Given the description of an element on the screen output the (x, y) to click on. 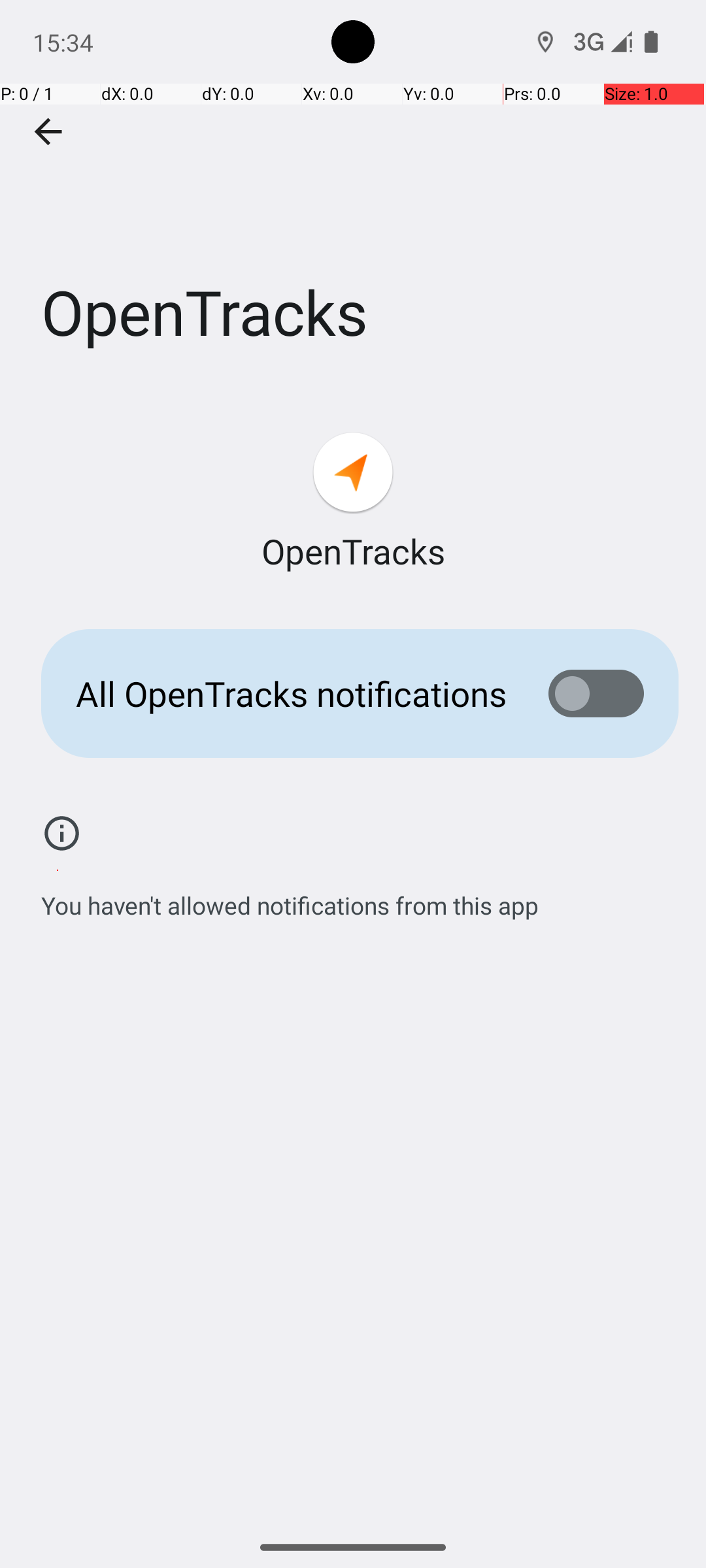
All OpenTracks notifications Element type: android.widget.TextView (291, 693)
You haven't allowed notifications from this app Element type: android.widget.TextView (290, 898)
